Given the description of an element on the screen output the (x, y) to click on. 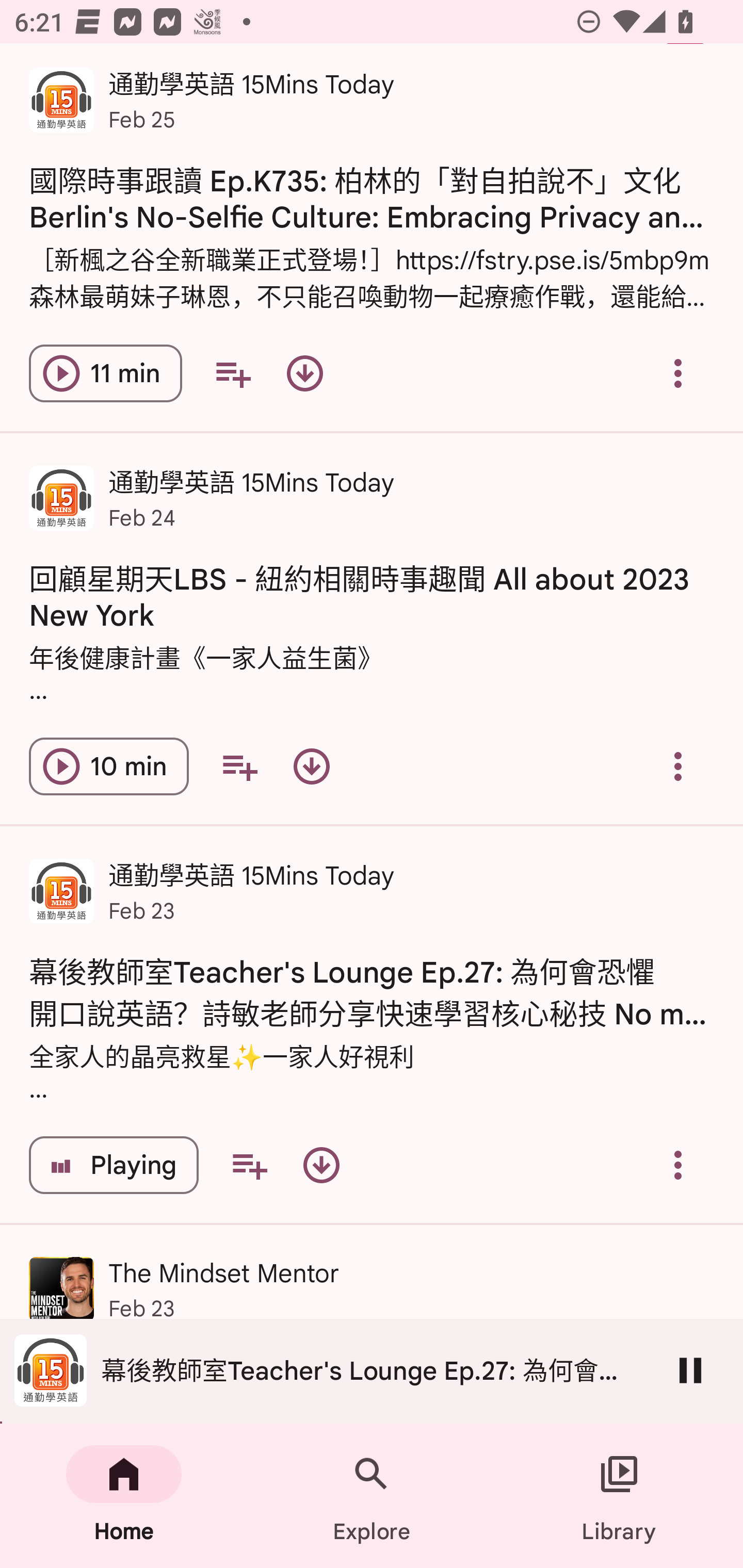
Add to your queue (232, 373)
Download episode (304, 373)
Overflow menu (677, 373)
Add to your queue (239, 765)
Download episode (311, 765)
Overflow menu (677, 765)
Add to your queue (249, 1164)
Download episode (321, 1164)
Overflow menu (677, 1164)
Pause (690, 1370)
Explore (371, 1495)
Library (619, 1495)
